Given the description of an element on the screen output the (x, y) to click on. 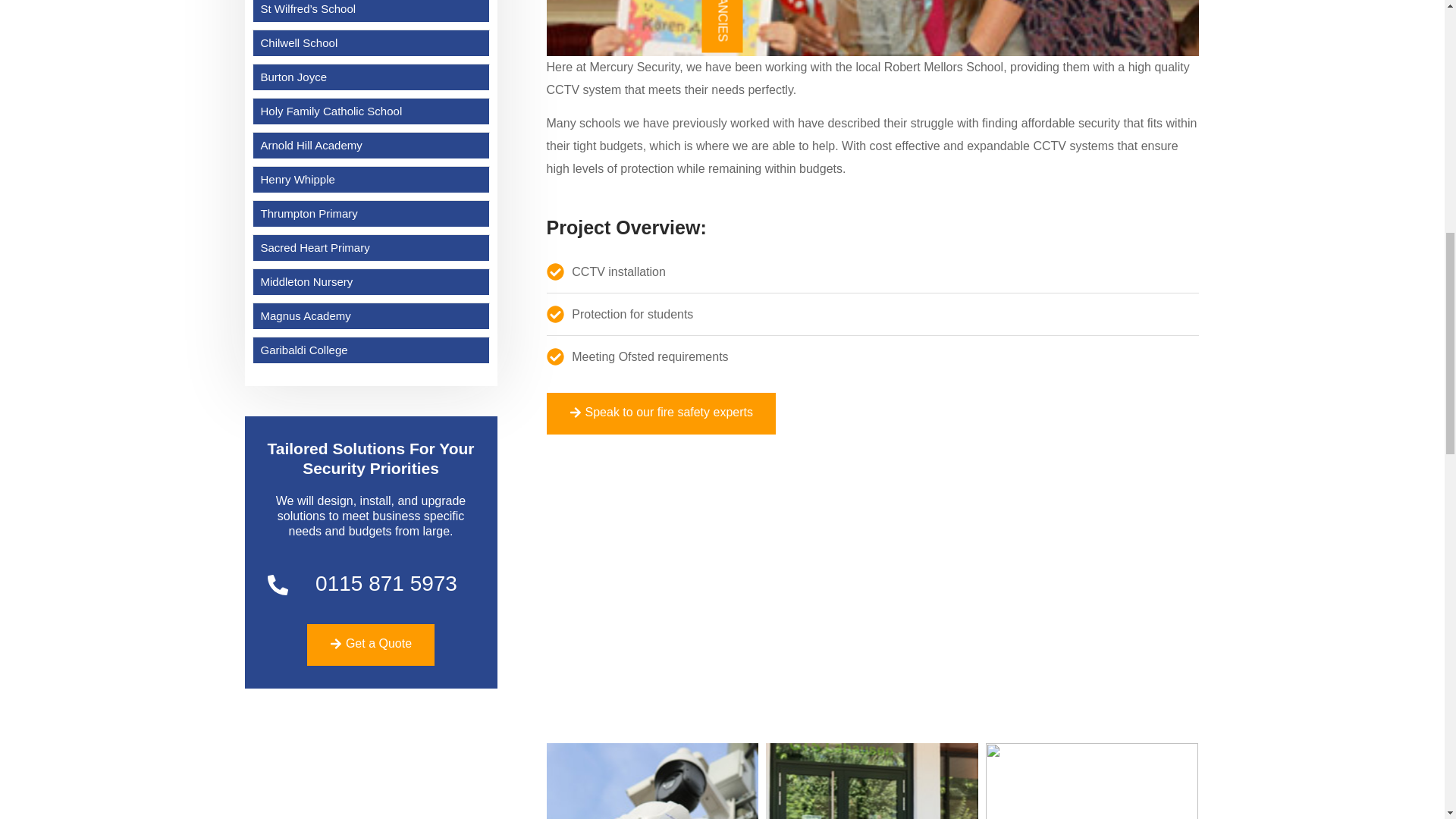
Holy Family Catholic School (371, 111)
Burton Joyce (371, 77)
Chilwell School (371, 43)
Thrumpton Primary (371, 213)
Sacred Heart Primary (371, 248)
Henry Whipple (371, 179)
Arnold Hill Academy (371, 145)
